Given the description of an element on the screen output the (x, y) to click on. 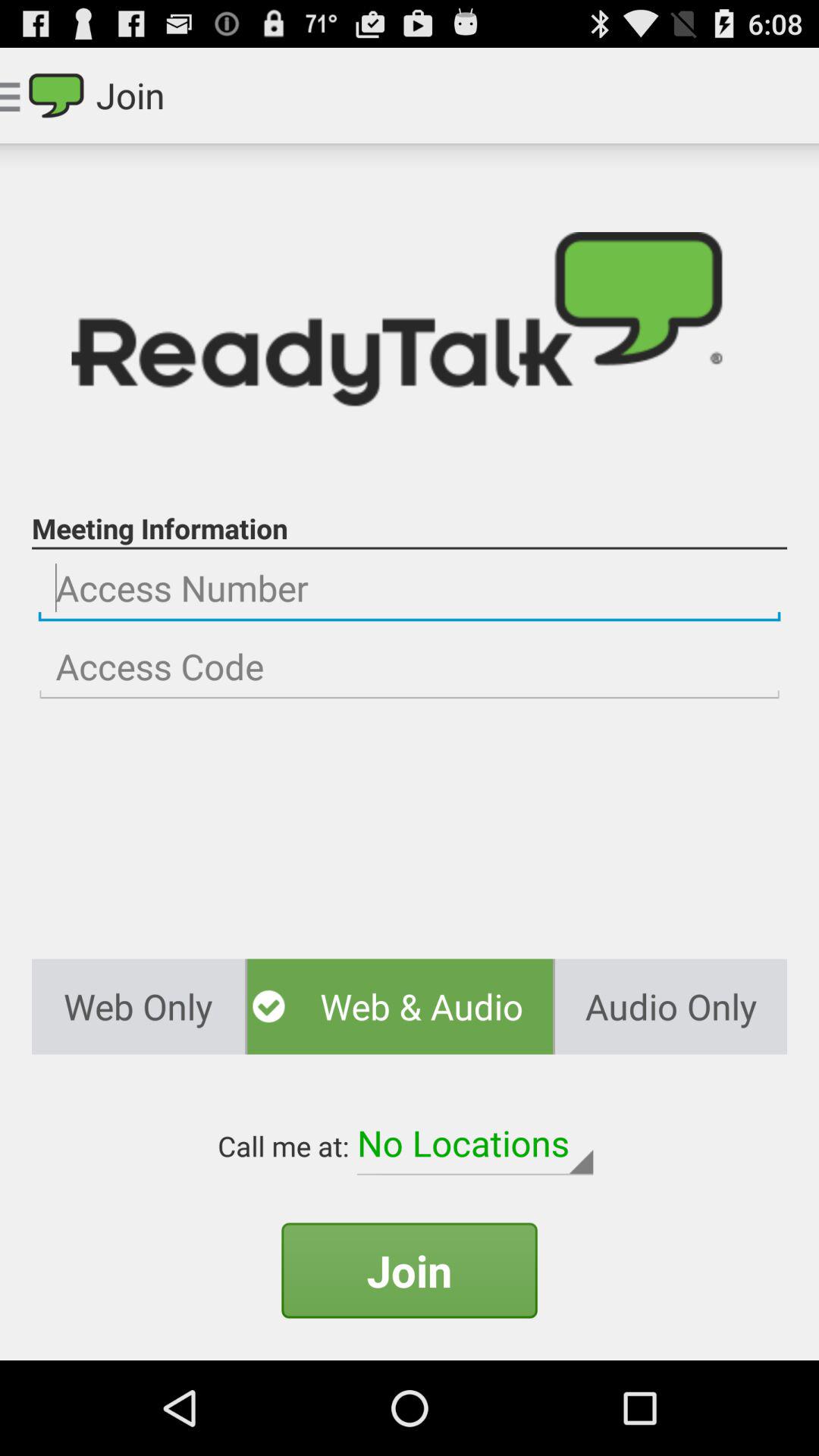
type the number (409, 666)
